Given the description of an element on the screen output the (x, y) to click on. 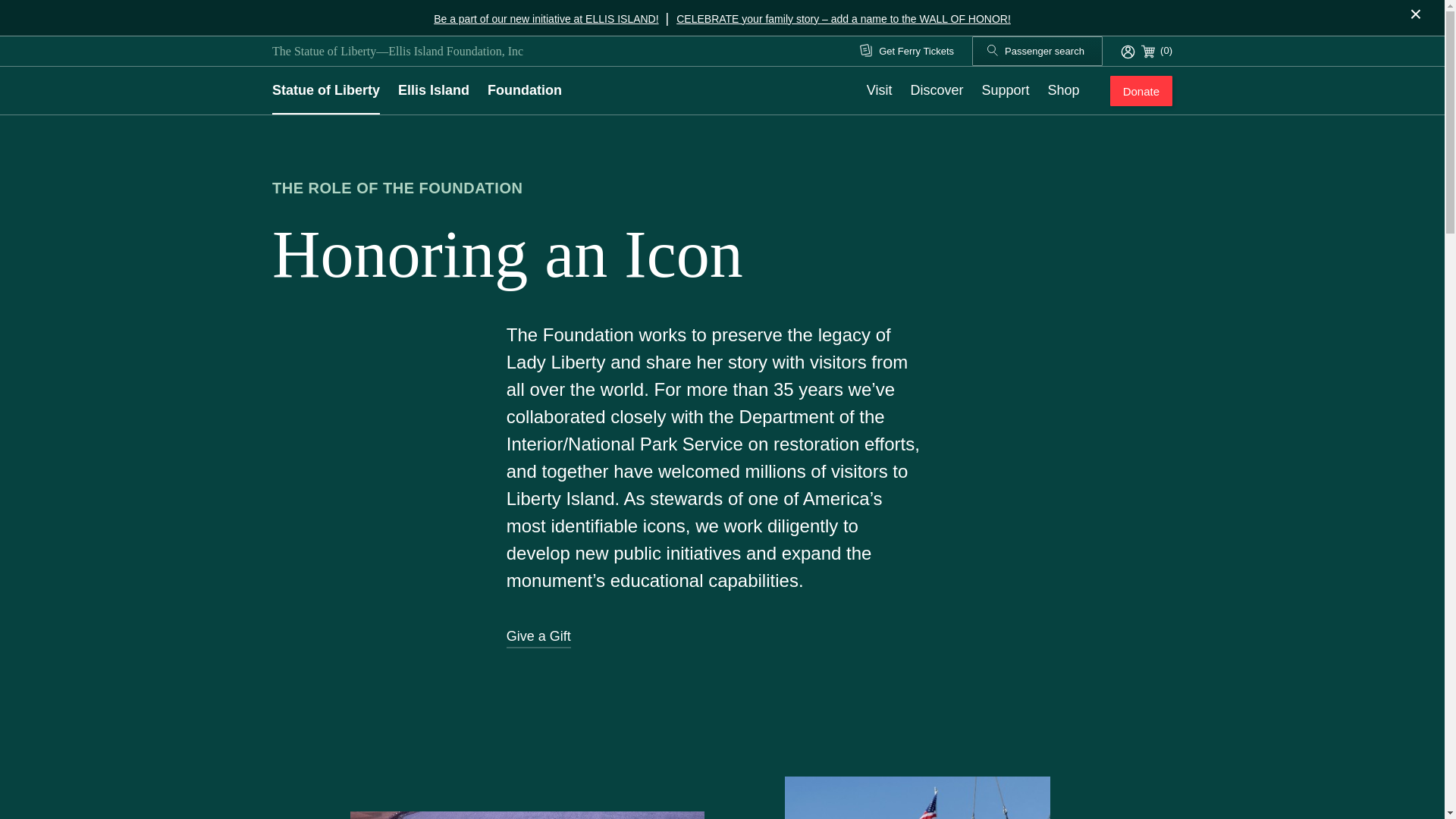
Foundation (524, 90)
Foundation (524, 90)
Discover (937, 90)
Be a part of our new initiative at ELLIS ISLAND! (546, 18)
Statue of Liberty (326, 90)
Get Ferry Tickets (906, 51)
Get Ferry Tickets (906, 51)
Ellis Island (432, 90)
Ellis Island (432, 90)
Statue of Liberty (326, 90)
